Given the description of an element on the screen output the (x, y) to click on. 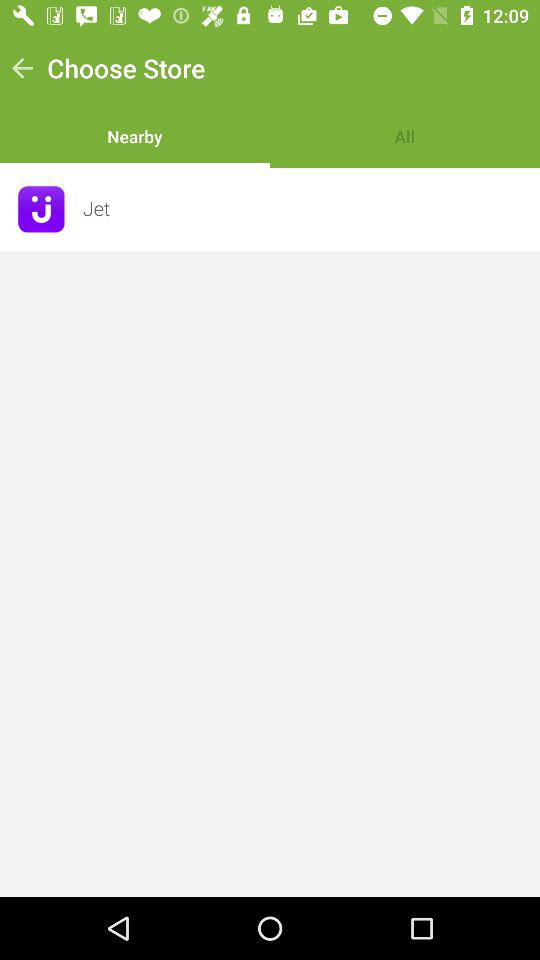
jump to jet item (305, 208)
